Given the description of an element on the screen output the (x, y) to click on. 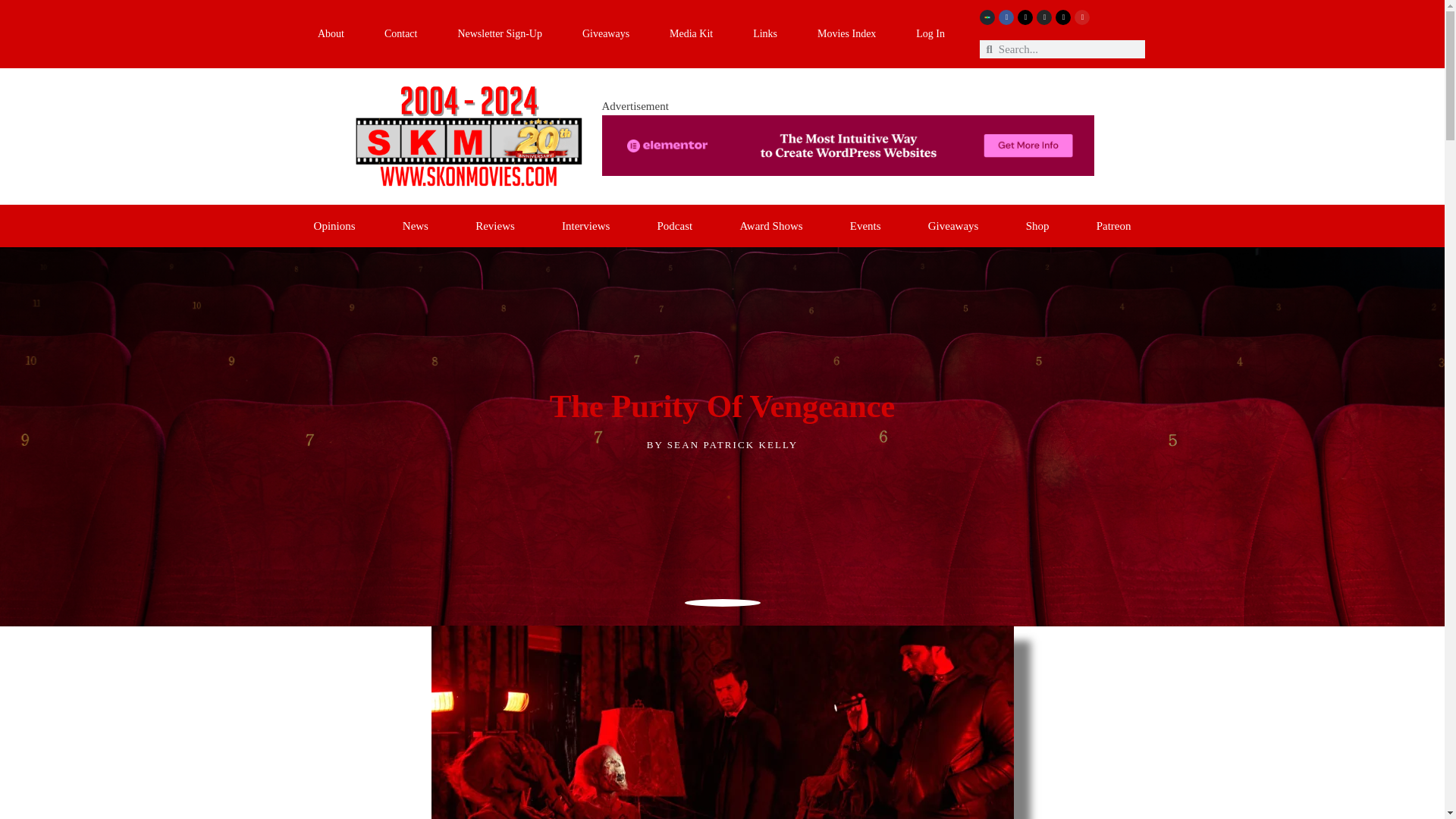
Giveaways (605, 34)
Log In (930, 34)
Movies Index (846, 34)
Contact (400, 34)
About (330, 34)
Media Kit (691, 34)
News (414, 225)
Reviews (494, 225)
Opinions (333, 225)
Links (765, 34)
